Given the description of an element on the screen output the (x, y) to click on. 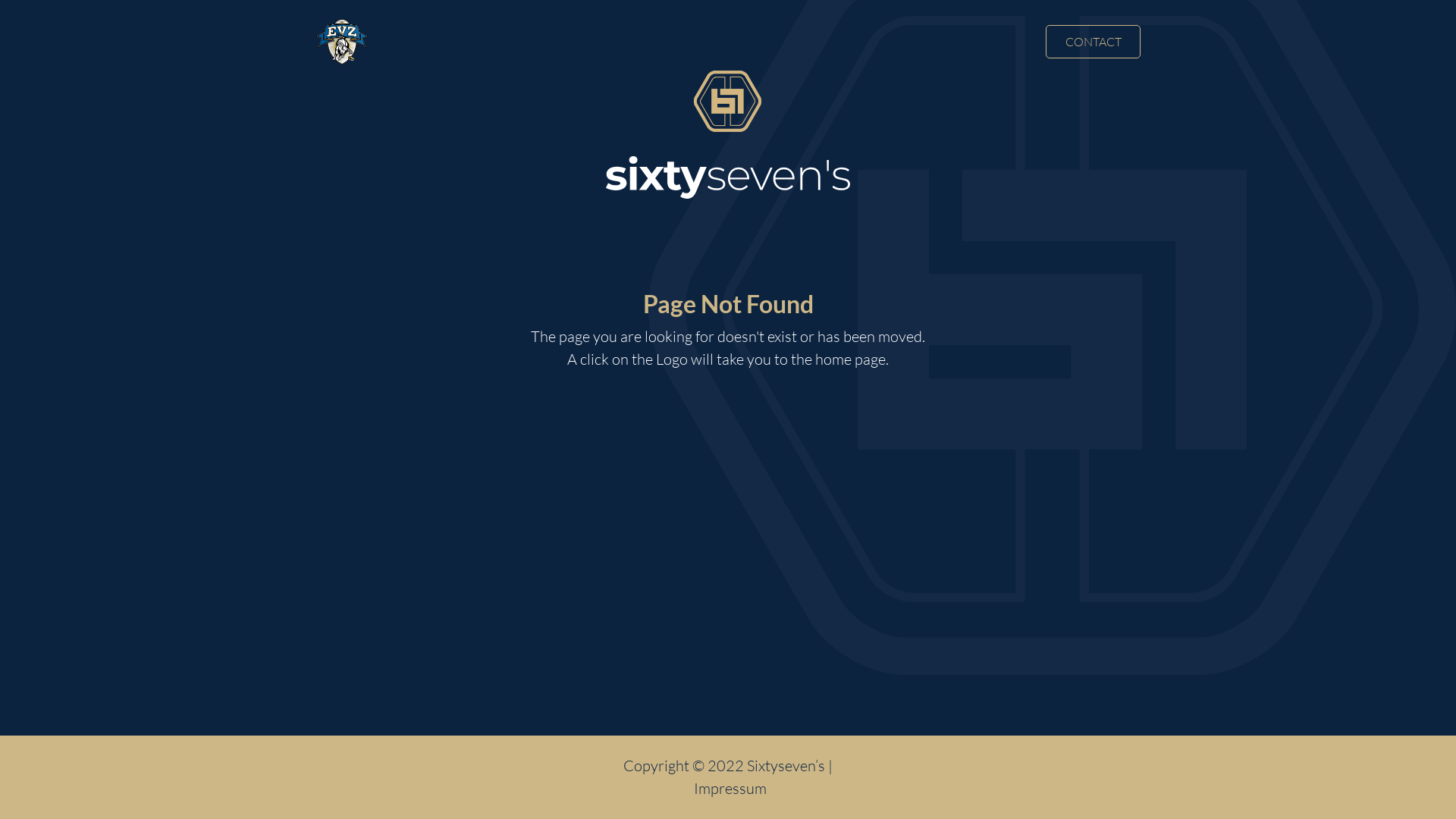
Impressum Element type: text (728, 788)
CONTACT Element type: text (1092, 41)
